Given the description of an element on the screen output the (x, y) to click on. 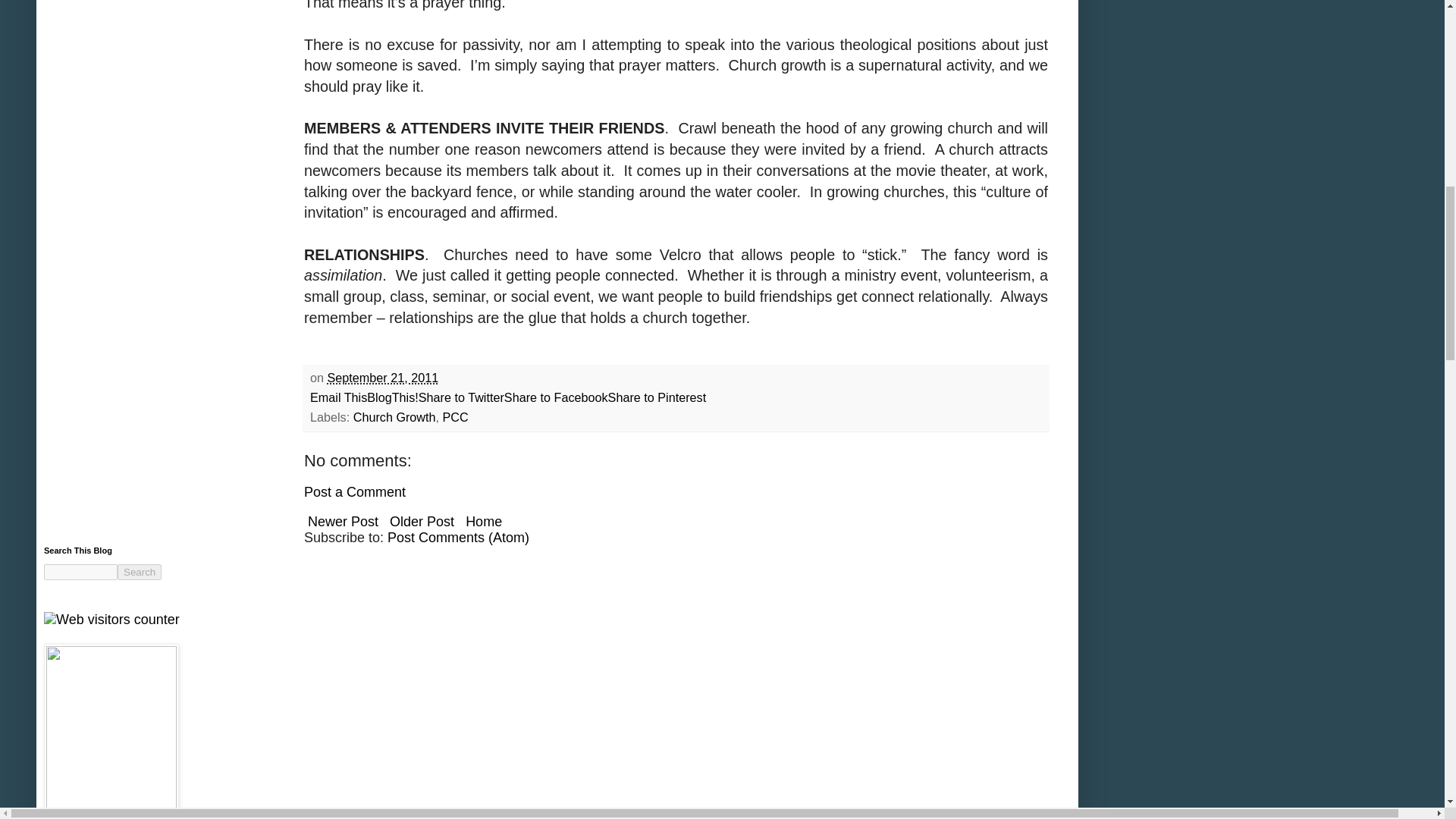
Share to Pinterest (657, 397)
Newer Post (342, 521)
Older Post (421, 521)
Post a Comment (355, 491)
Email This (338, 397)
search (80, 571)
Share to Pinterest (657, 397)
Church Growth (394, 417)
Home (483, 521)
BlogThis! (391, 397)
Search (139, 571)
Search (139, 571)
search (139, 571)
Share to Facebook (555, 397)
September 21, 2011 (383, 377)
